Given the description of an element on the screen output the (x, y) to click on. 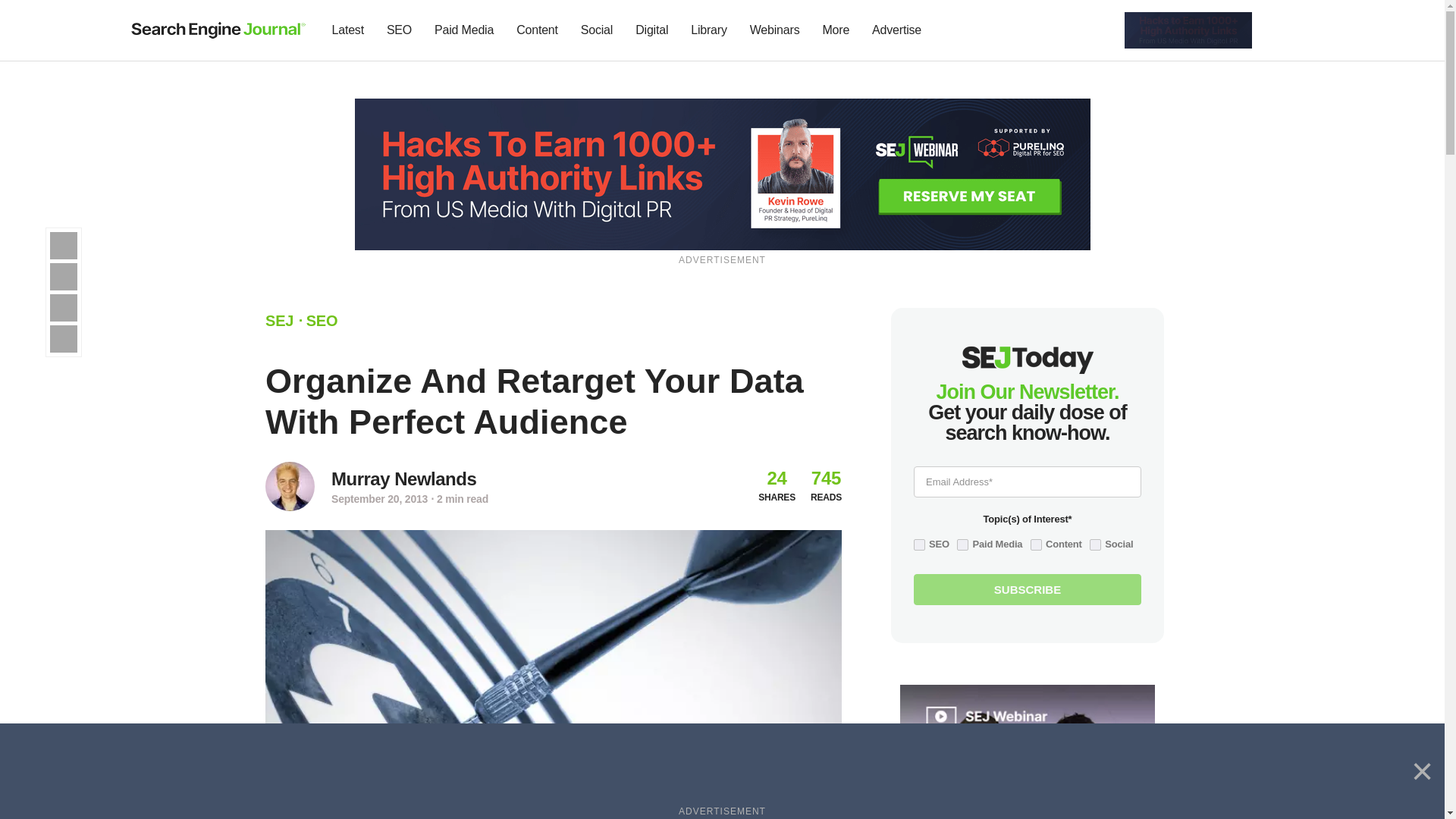
Register For Free (722, 172)
Go to Author Page (403, 478)
Paid Media (464, 30)
Register For Free (1187, 28)
Subscribe to our Newsletter (1277, 30)
Go to Author Page (289, 486)
Latest (347, 30)
